Given the description of an element on the screen output the (x, y) to click on. 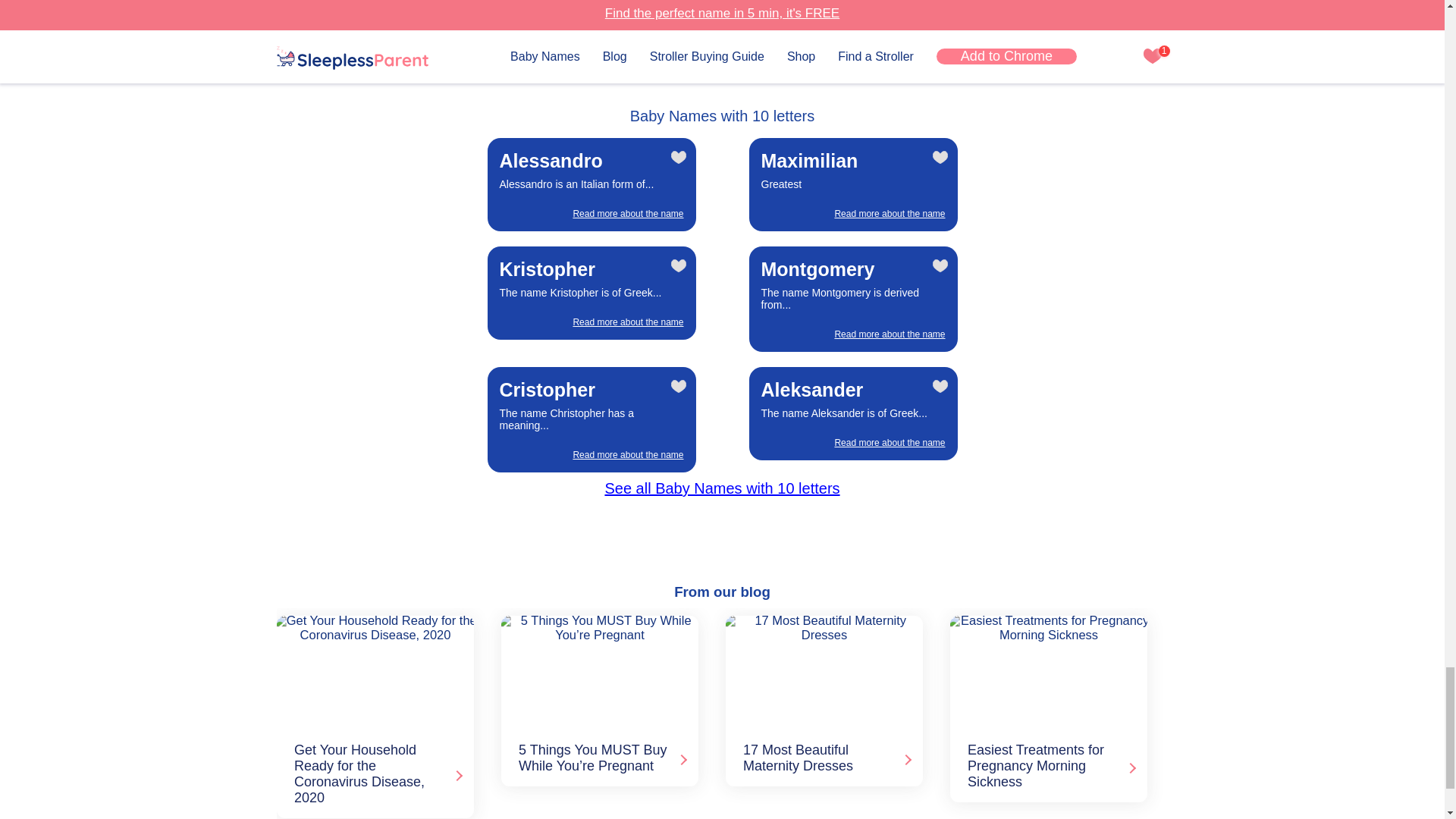
Get Your Household Ready for the Coronavirus Disease, 2020 (371, 671)
